Given the description of an element on the screen output the (x, y) to click on. 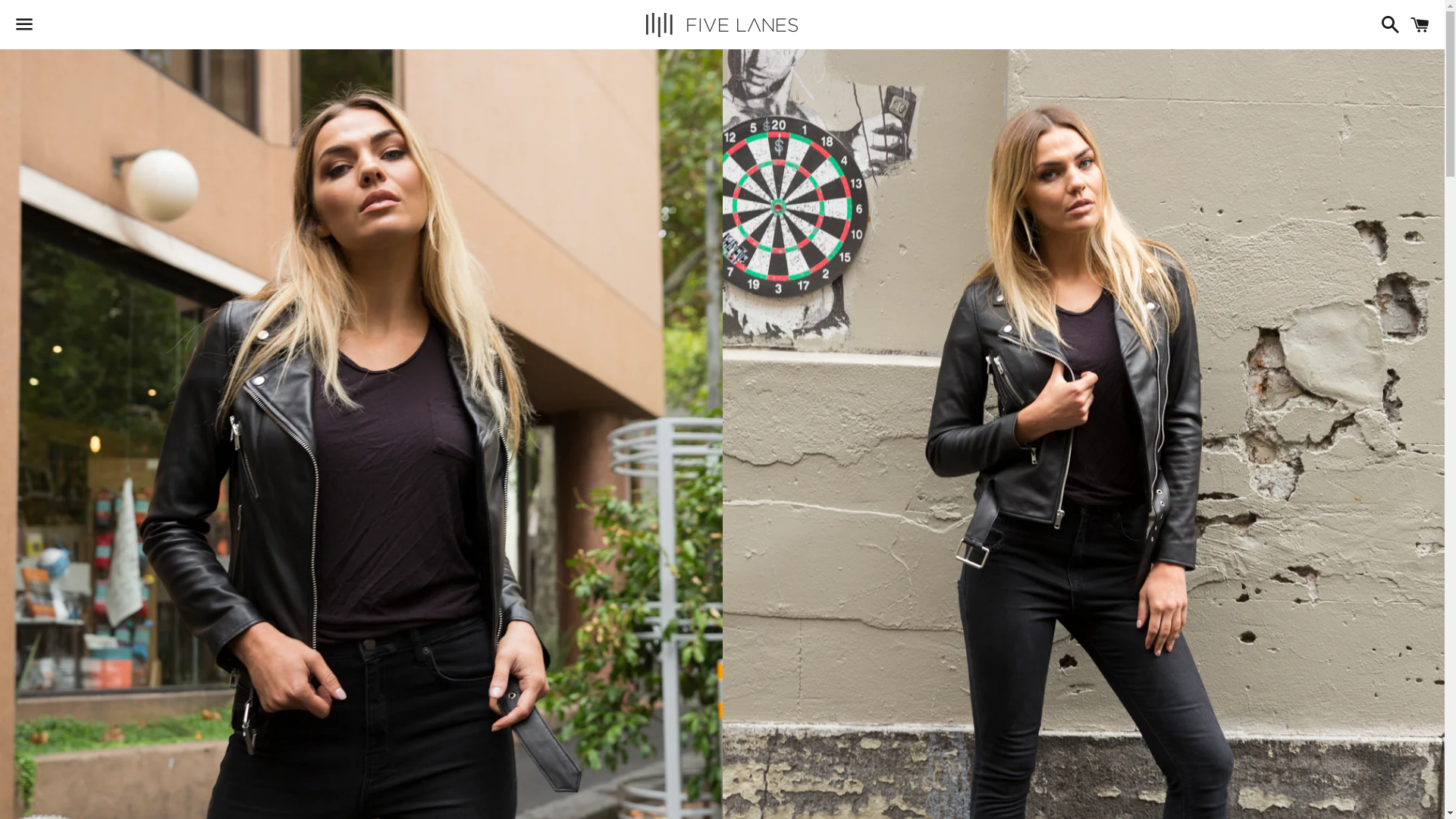
Cart Element type: text (1419, 24)
Search Element type: text (1386, 24)
Menu Element type: text (24, 24)
